Given the description of an element on the screen output the (x, y) to click on. 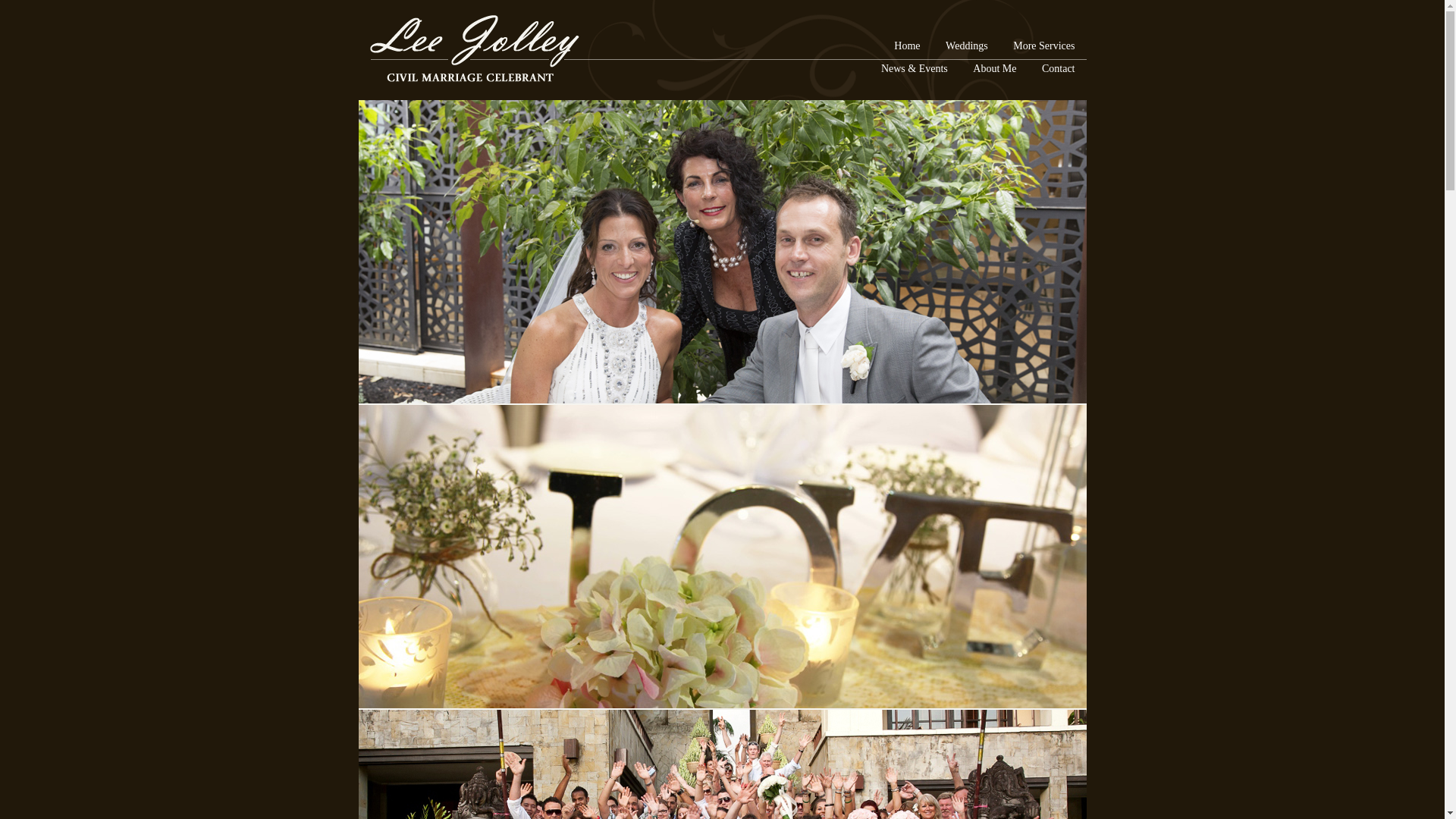
Home Element type: text (906, 45)
More Services Element type: text (1043, 45)
Contact Element type: text (1058, 68)
Weddings Element type: text (966, 45)
News & Events Element type: text (914, 68)
About Me Element type: text (994, 68)
